Given the description of an element on the screen output the (x, y) to click on. 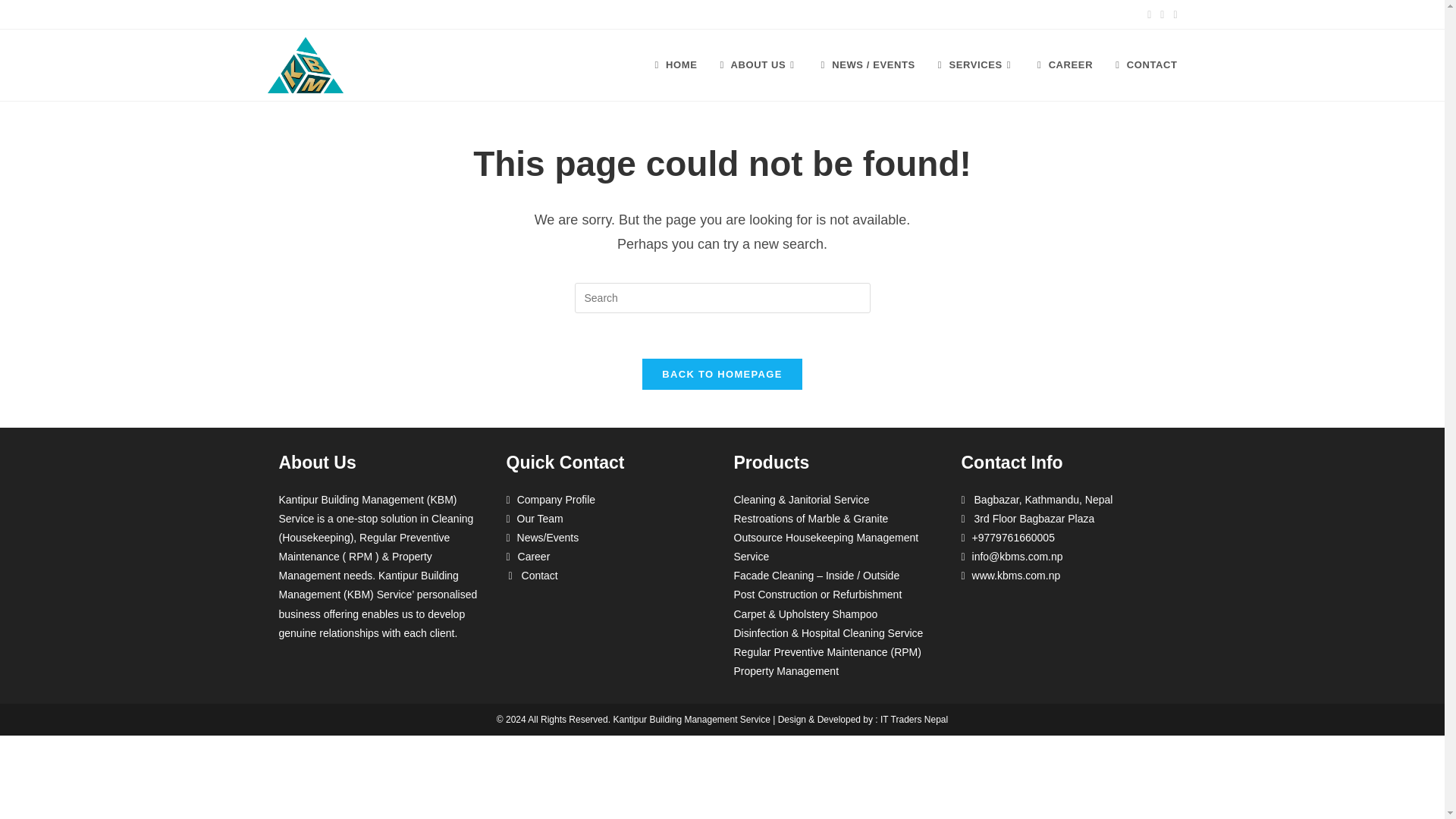
CAREER (1064, 64)
CONTACT (1145, 64)
SERVICES (976, 64)
HOME (675, 64)
ABOUT US (758, 64)
